Given the description of an element on the screen output the (x, y) to click on. 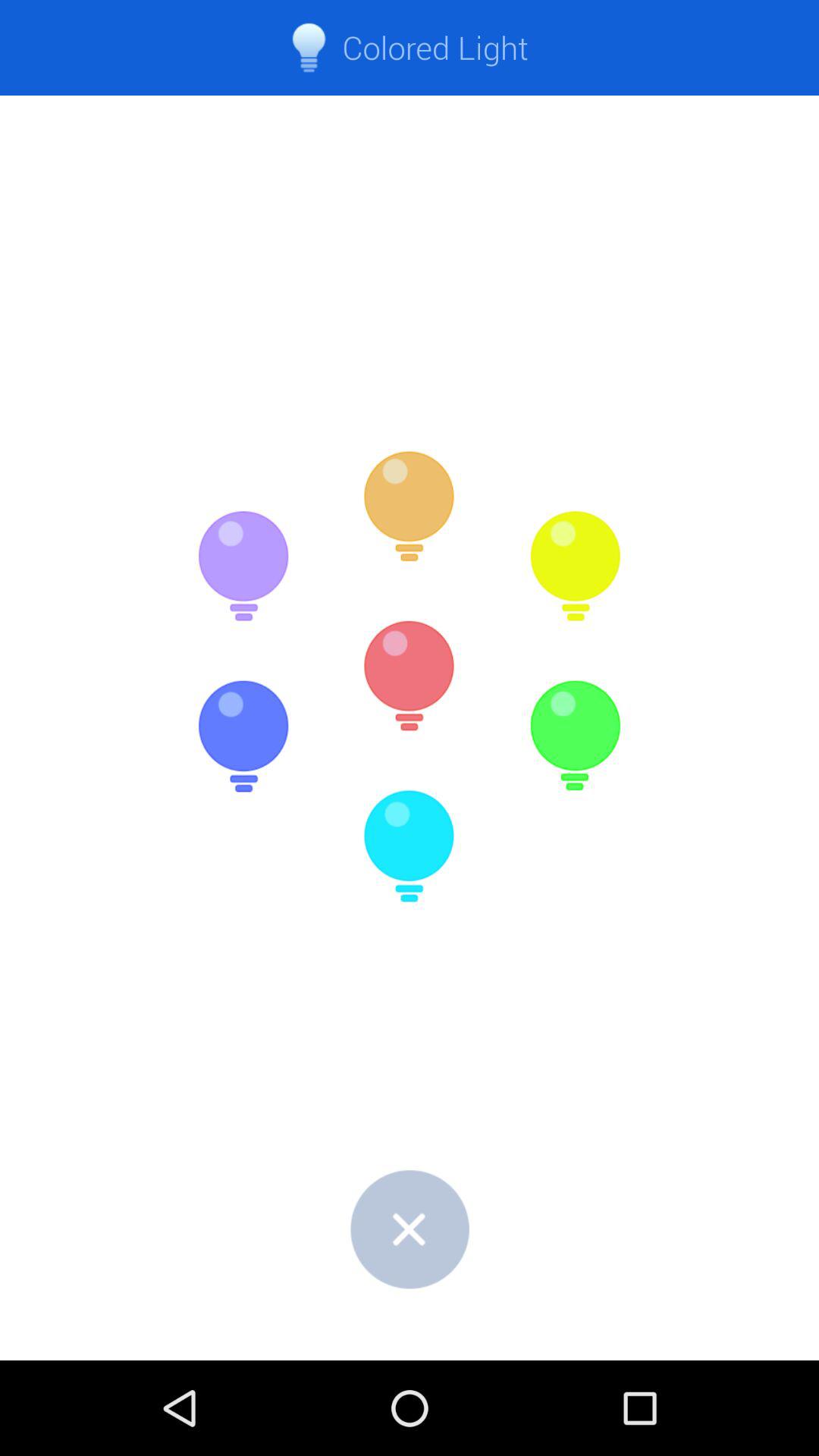
close (409, 1228)
